Given the description of an element on the screen output the (x, y) to click on. 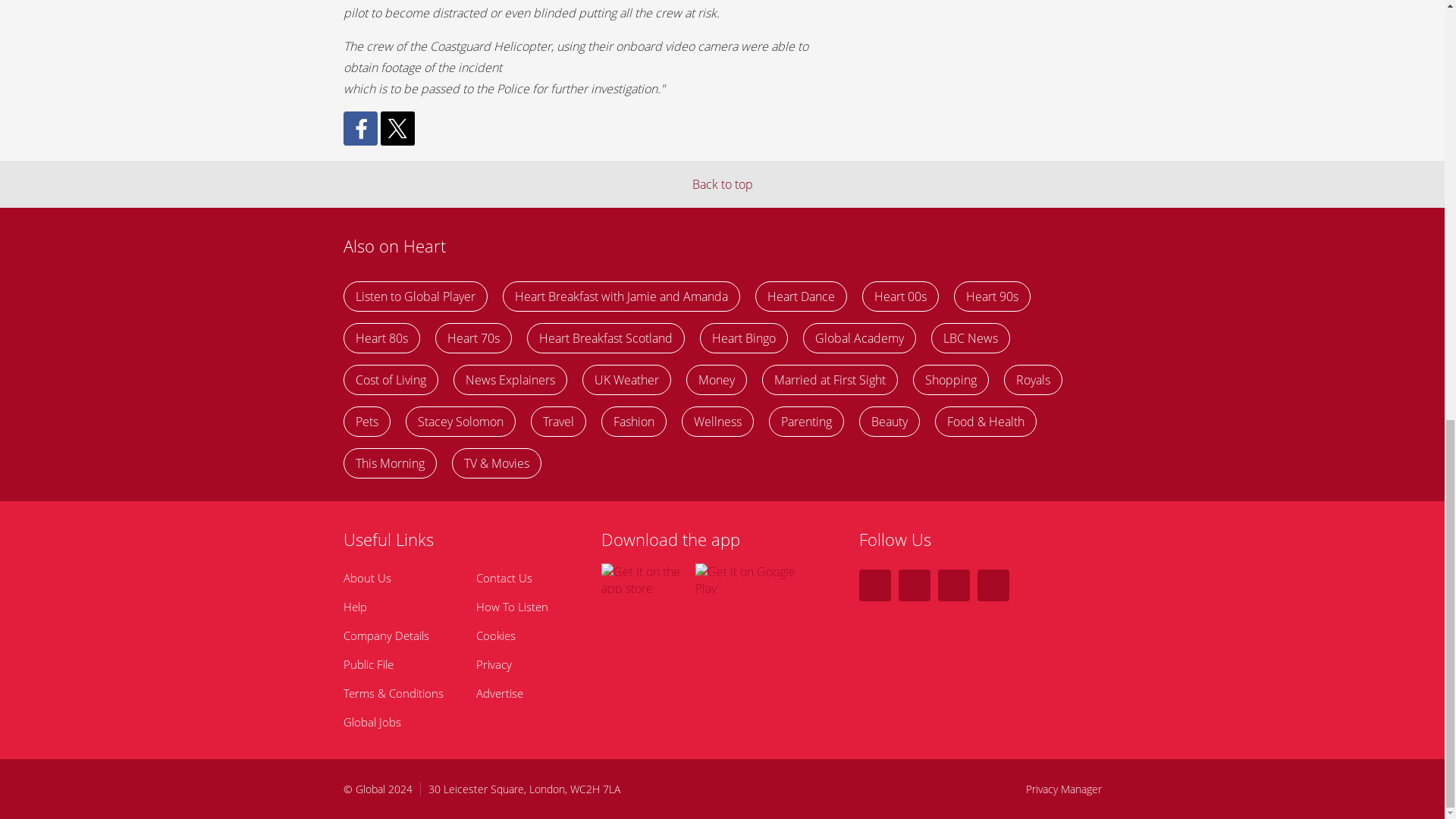
Follow Heart on Facebook (914, 585)
Follow Heart on X (874, 585)
Follow Heart on Youtube (992, 585)
Back to top (721, 184)
Follow Heart on Instagram (953, 585)
